Given the description of an element on the screen output the (x, y) to click on. 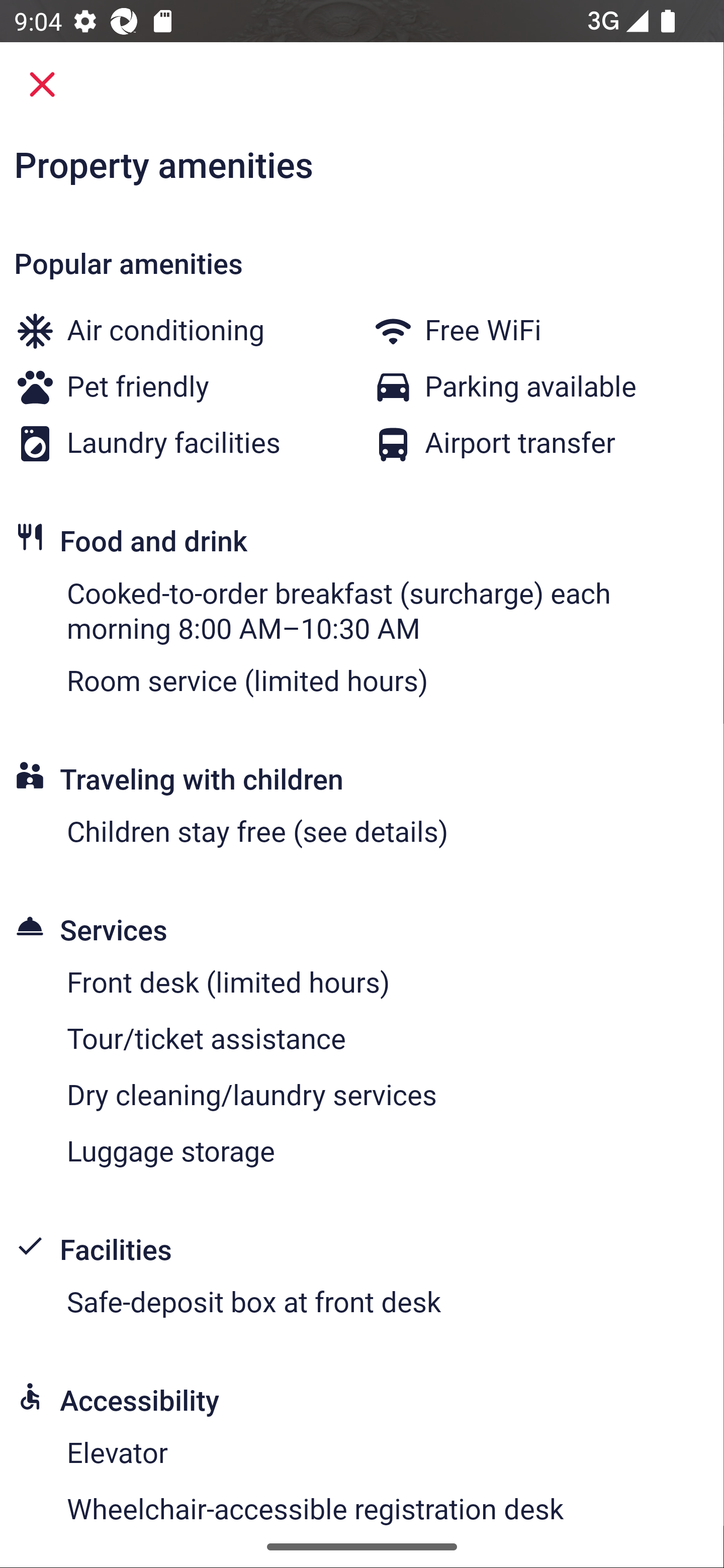
Close (42, 84)
